Given the description of an element on the screen output the (x, y) to click on. 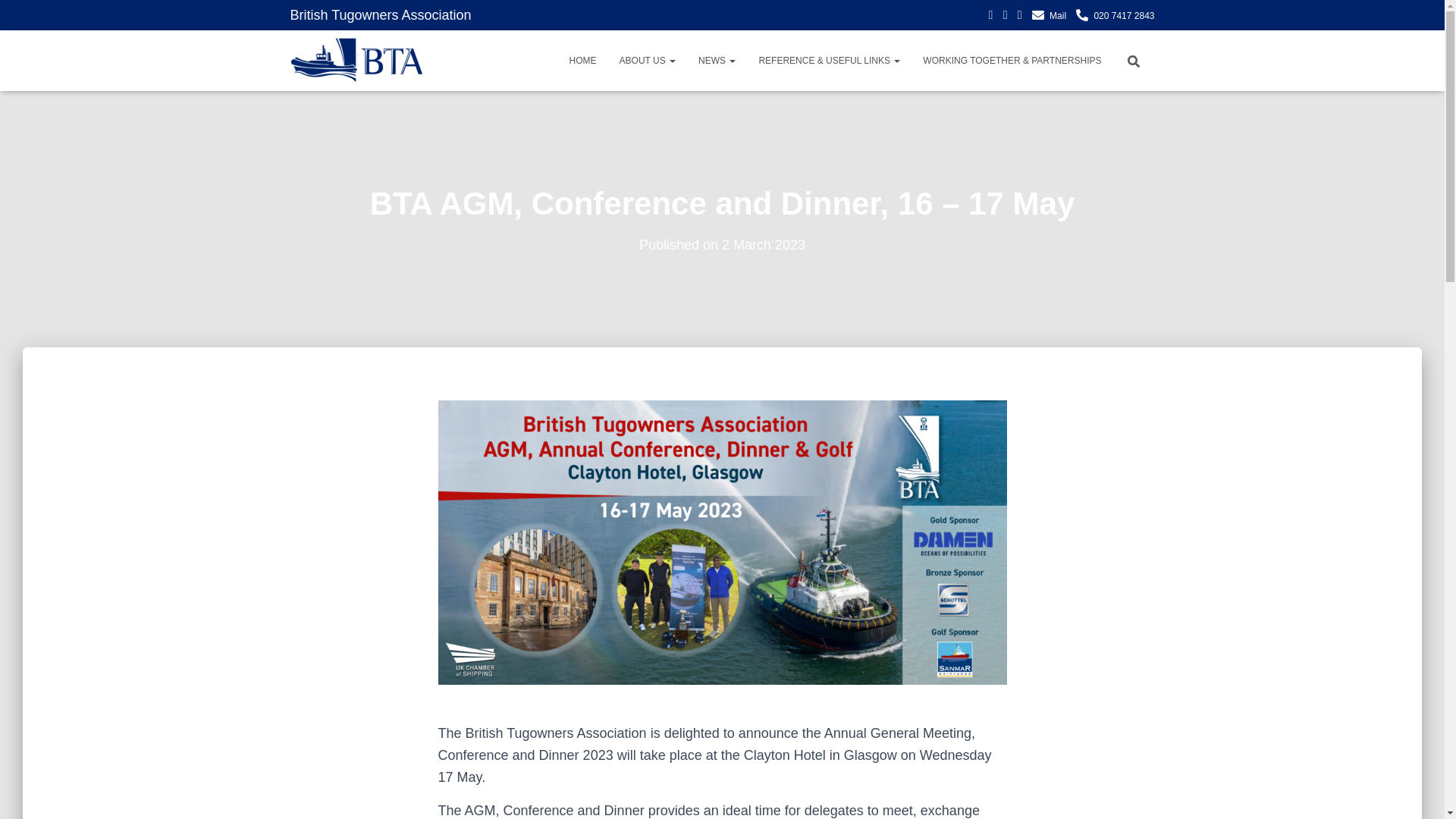
020 7417 2843 (1114, 15)
Home (582, 60)
About Us (647, 60)
020 7417 2843 (1114, 15)
ABOUT US (647, 60)
NEWS (716, 60)
British Tugowners Association (379, 14)
Mail (1048, 15)
HOME (582, 60)
British Tugowners Association (356, 60)
News (716, 60)
Mail (1048, 15)
